Given the description of an element on the screen output the (x, y) to click on. 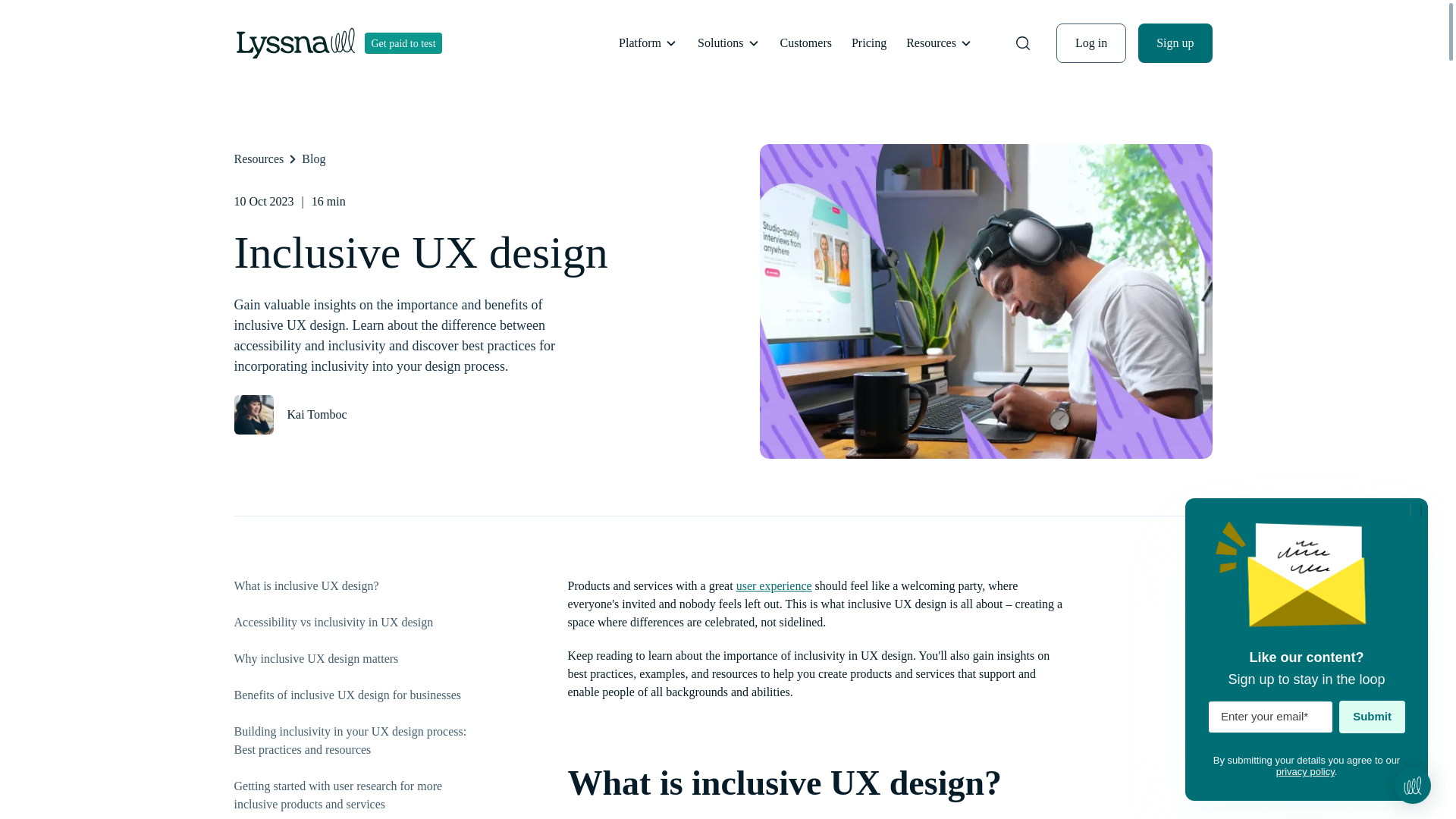
Pricing (868, 43)
Submit (1372, 717)
Sign up (1174, 43)
Resources (257, 158)
Kai Tomboc (309, 414)
Blog (312, 158)
Log in (1091, 42)
privacy policy (1305, 771)
user experience (774, 585)
What is inclusive UX design? (305, 585)
Why inclusive UX design matters (314, 658)
Customers (804, 43)
Platform (648, 43)
Get paid to test (403, 43)
